Given the description of an element on the screen output the (x, y) to click on. 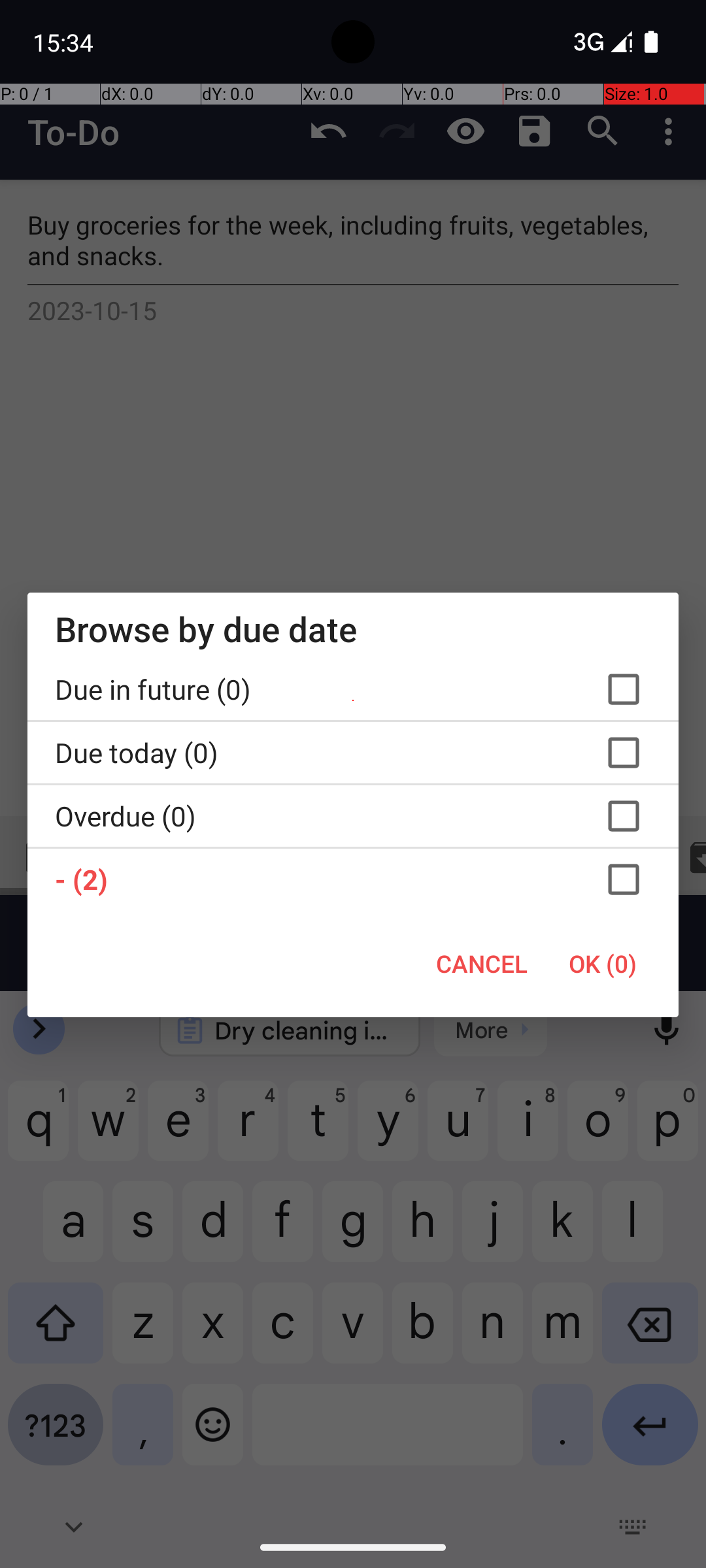
Browse by due date Element type: android.widget.TextView (352, 628)
Due in future (0) Element type: android.widget.CheckedTextView (352, 688)
Due today (0) Element type: android.widget.CheckedTextView (352, 752)
Overdue (0) Element type: android.widget.CheckedTextView (352, 815)
- (2) Element type: android.widget.CheckedTextView (352, 879)
OK (0) Element type: android.widget.Button (602, 963)
